Given the description of an element on the screen output the (x, y) to click on. 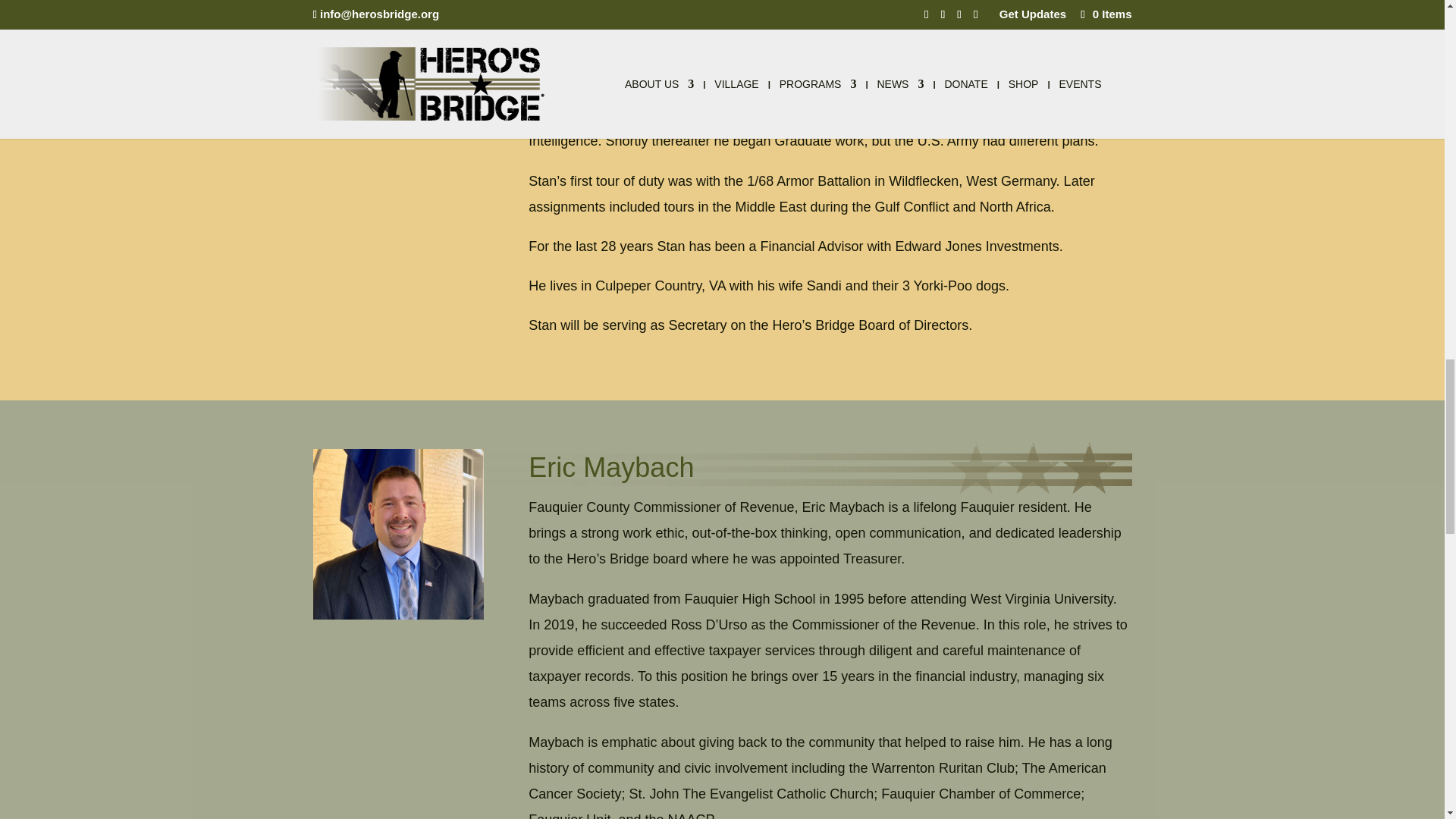
Stan's-Photo (398, 35)
Eric (398, 533)
